Given the description of an element on the screen output the (x, y) to click on. 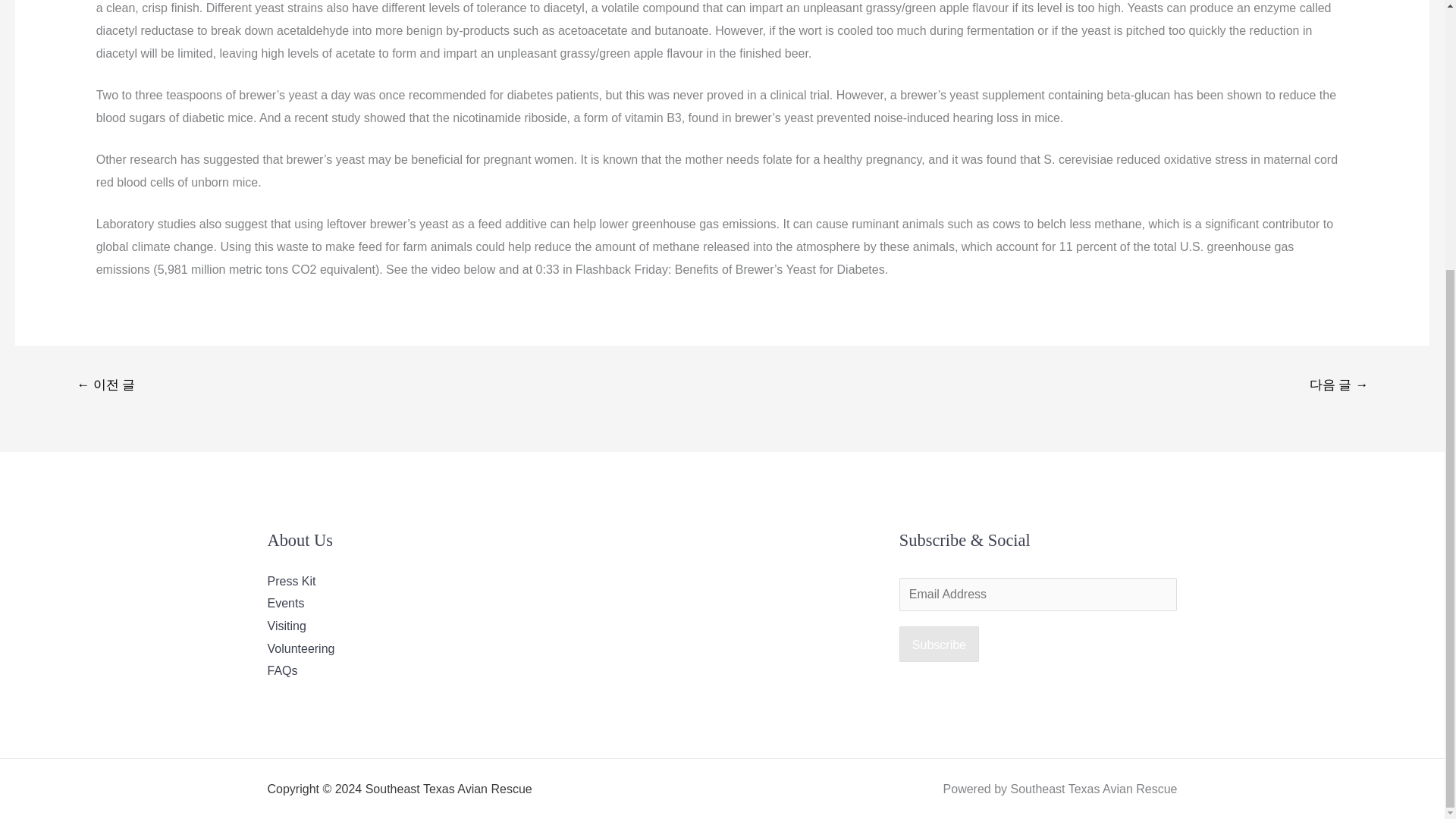
Press Kit (290, 581)
FAQs (281, 670)
Events (285, 603)
Visiting (285, 625)
Volunteering (300, 648)
Subscribe (938, 644)
